Given the description of an element on the screen output the (x, y) to click on. 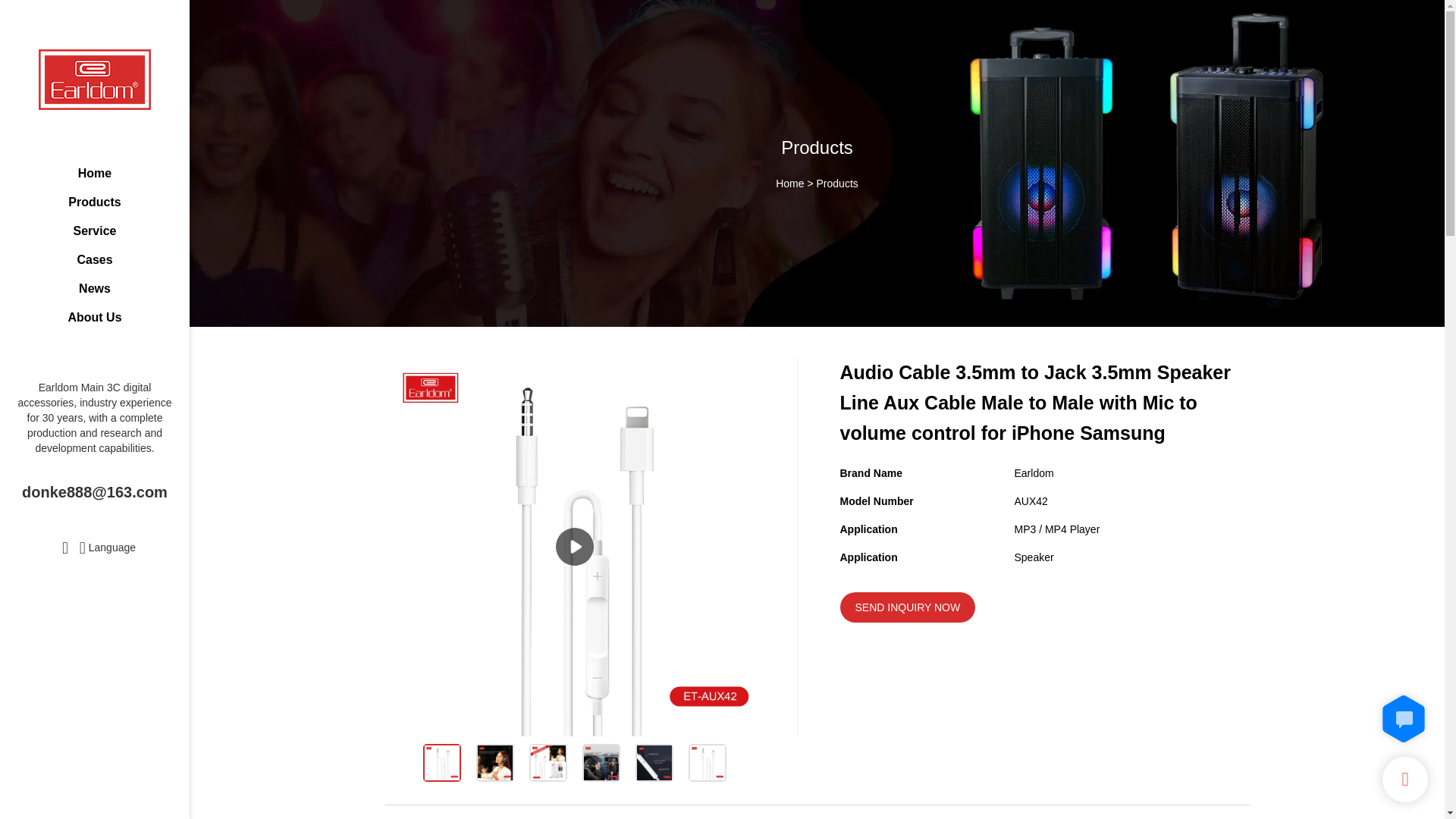
Products (94, 202)
About Us (94, 317)
Language (107, 546)
Home (94, 173)
Home (789, 183)
Products (837, 183)
News (94, 288)
Cases (94, 259)
Service (94, 231)
